Given the description of an element on the screen output the (x, y) to click on. 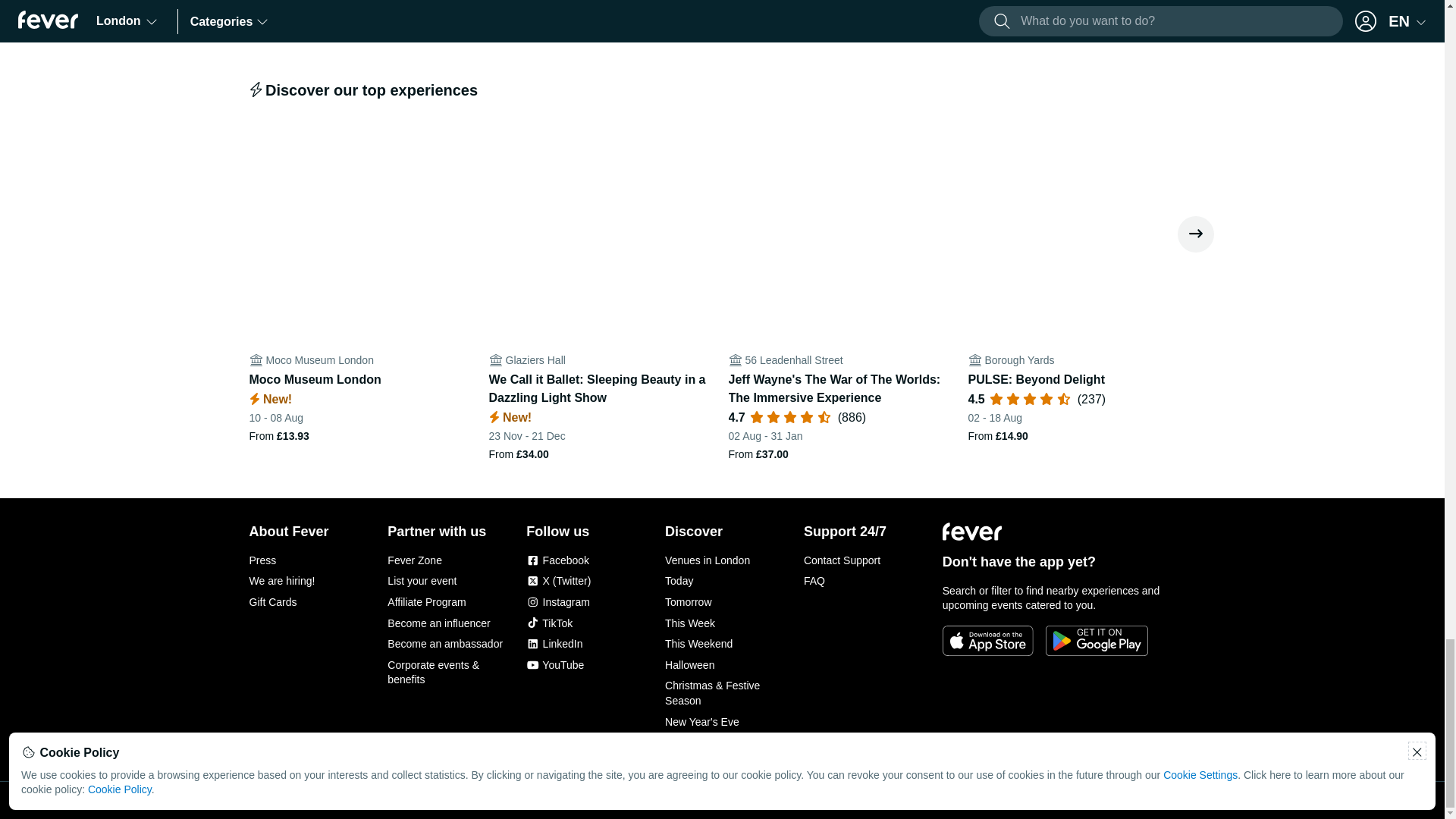
Candlelight: A Tribute to Joe Hisaishi - Southwark Cathedral (601, 21)
Candlelight: A Tribute to ABBA - Glaziers Hall (1081, 21)
